Given the description of an element on the screen output the (x, y) to click on. 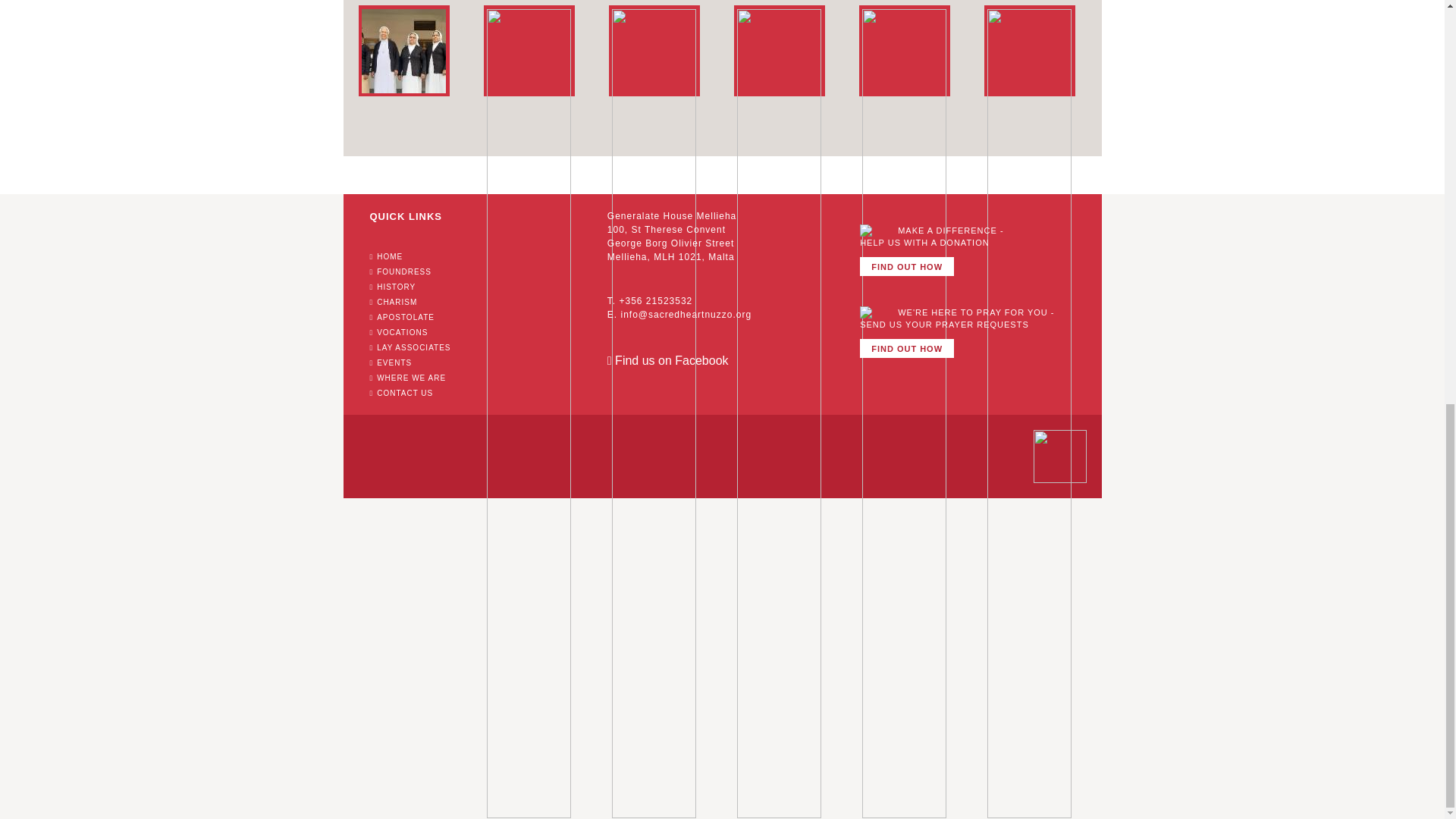
VOCATIONS (398, 332)
HISTORY (392, 286)
HOME (386, 256)
CONTACT US (401, 393)
FOUNDRESS (399, 271)
EVENTS (390, 362)
Find us on Facebook (668, 359)
APOSTOLATE (401, 316)
LAY ASSOCIATES (410, 347)
WHERE WE ARE (407, 377)
